Given the description of an element on the screen output the (x, y) to click on. 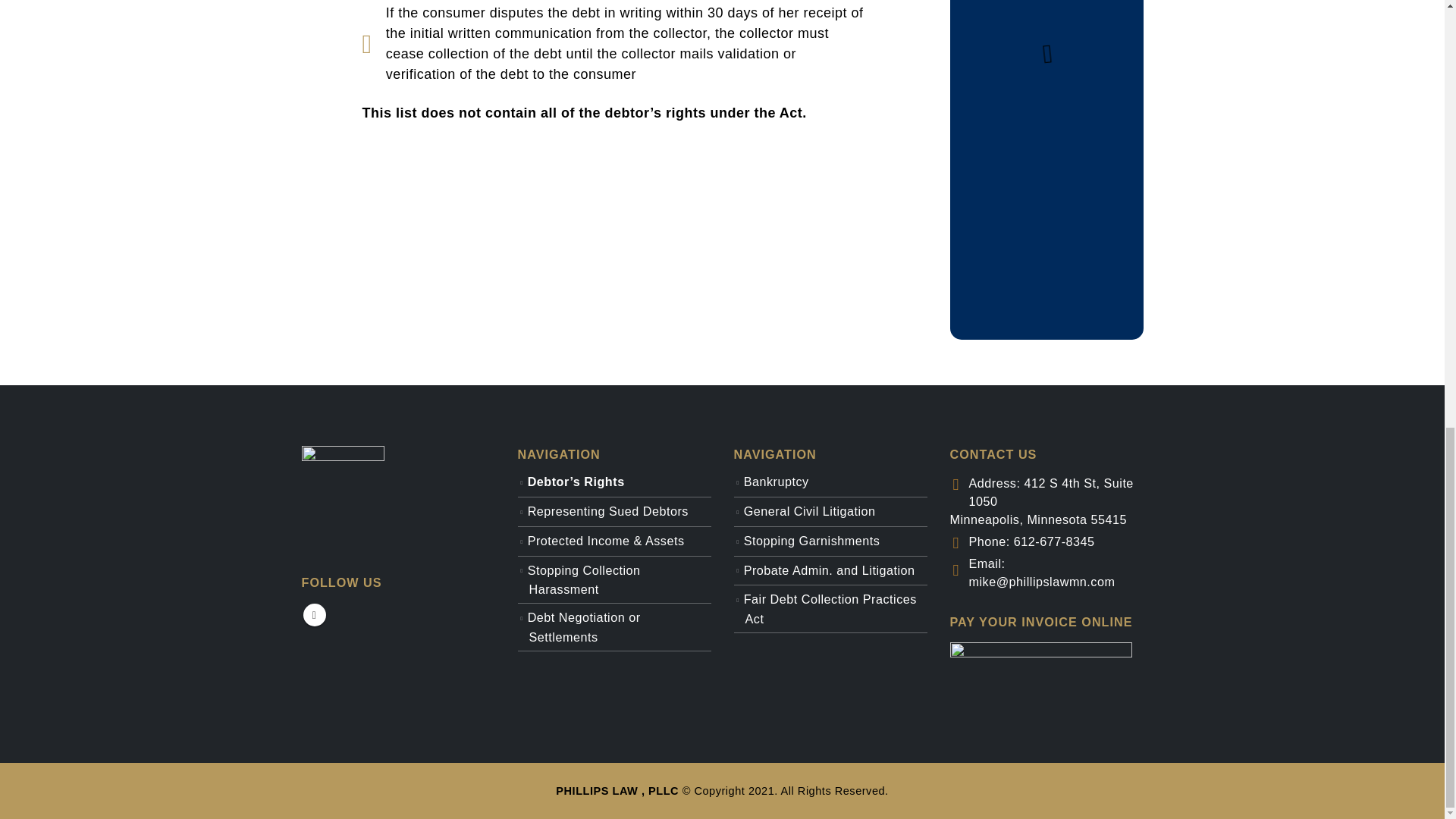
Facebook (314, 614)
